Given the description of an element on the screen output the (x, y) to click on. 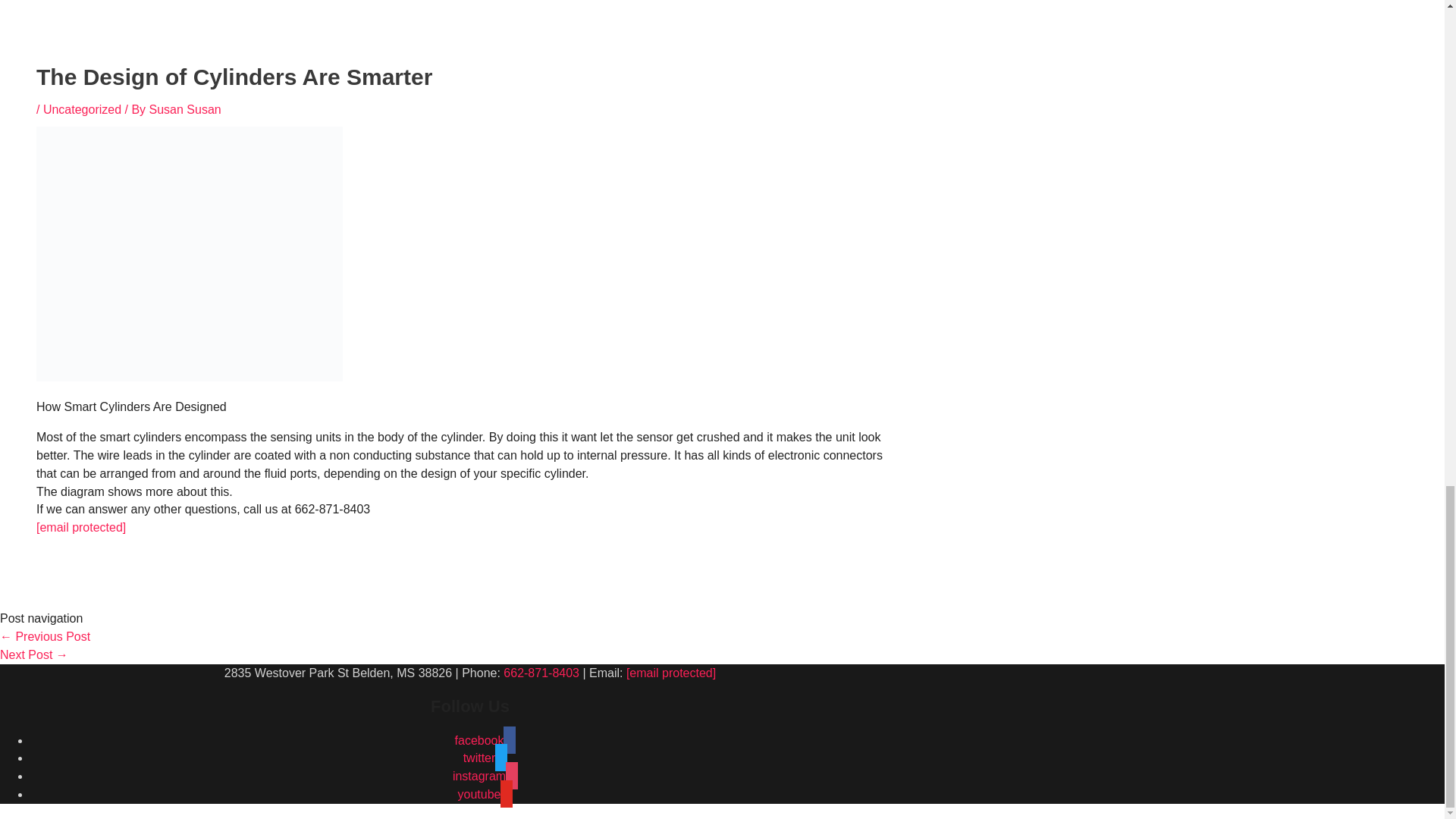
Vickers Vane Pumps (45, 635)
Twitter (485, 757)
Sundstrand Series 90 - Changes to Block Point (34, 654)
Facebook (485, 739)
Instagram (485, 775)
View all posts by Susan Susan (185, 109)
Default Label (485, 793)
